Given the description of an element on the screen output the (x, y) to click on. 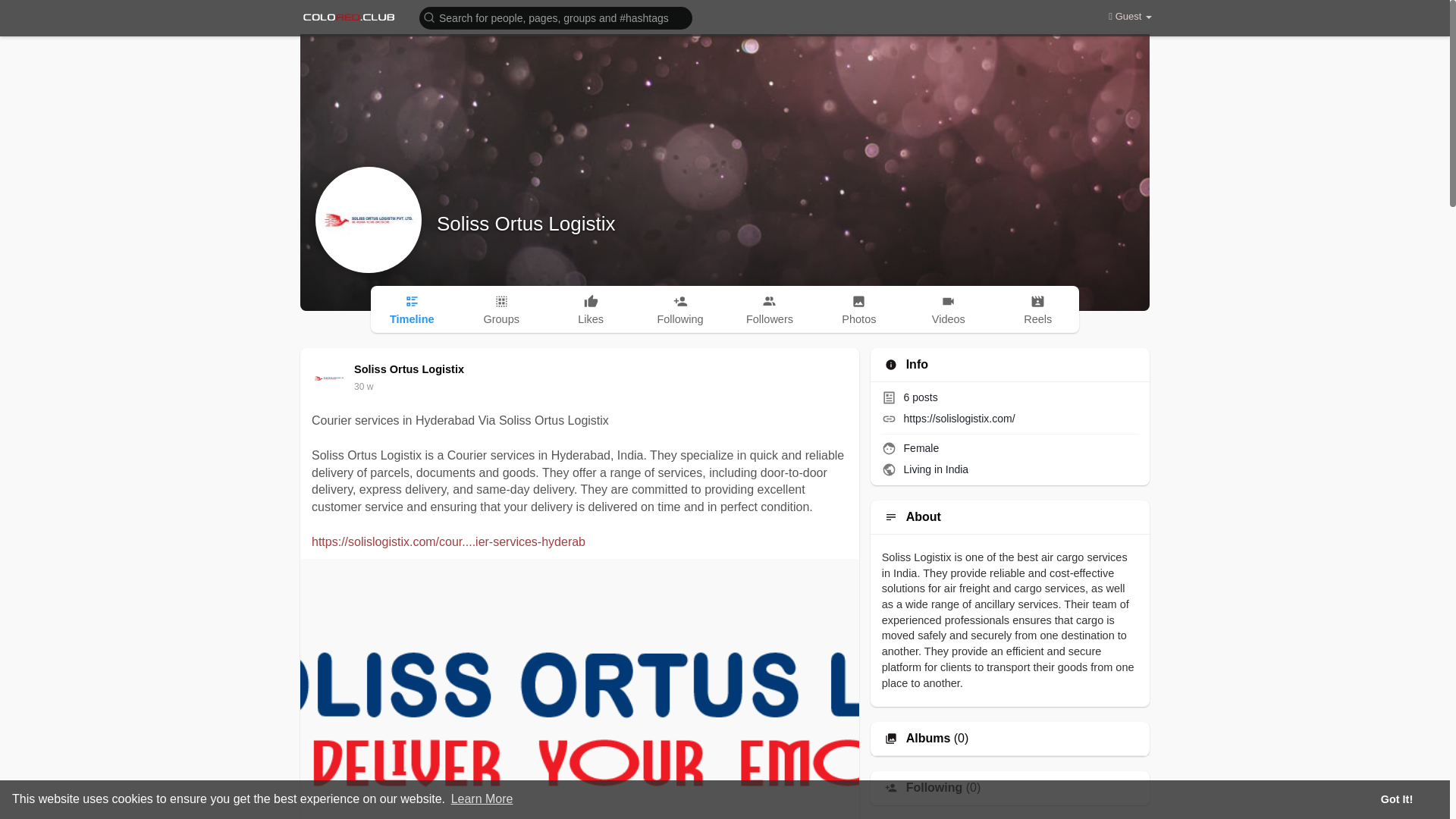
Videos (948, 308)
Followers (769, 308)
Reels (1037, 308)
30 w (362, 386)
Soliss Ortus Logistix (525, 223)
Following (679, 308)
Timeline (411, 308)
Guest (1129, 17)
Photos (858, 308)
Soliss Ortus Logistix (410, 369)
Likes (590, 308)
Learn More (481, 798)
Groups (500, 308)
30 w (362, 386)
